Given the description of an element on the screen output the (x, y) to click on. 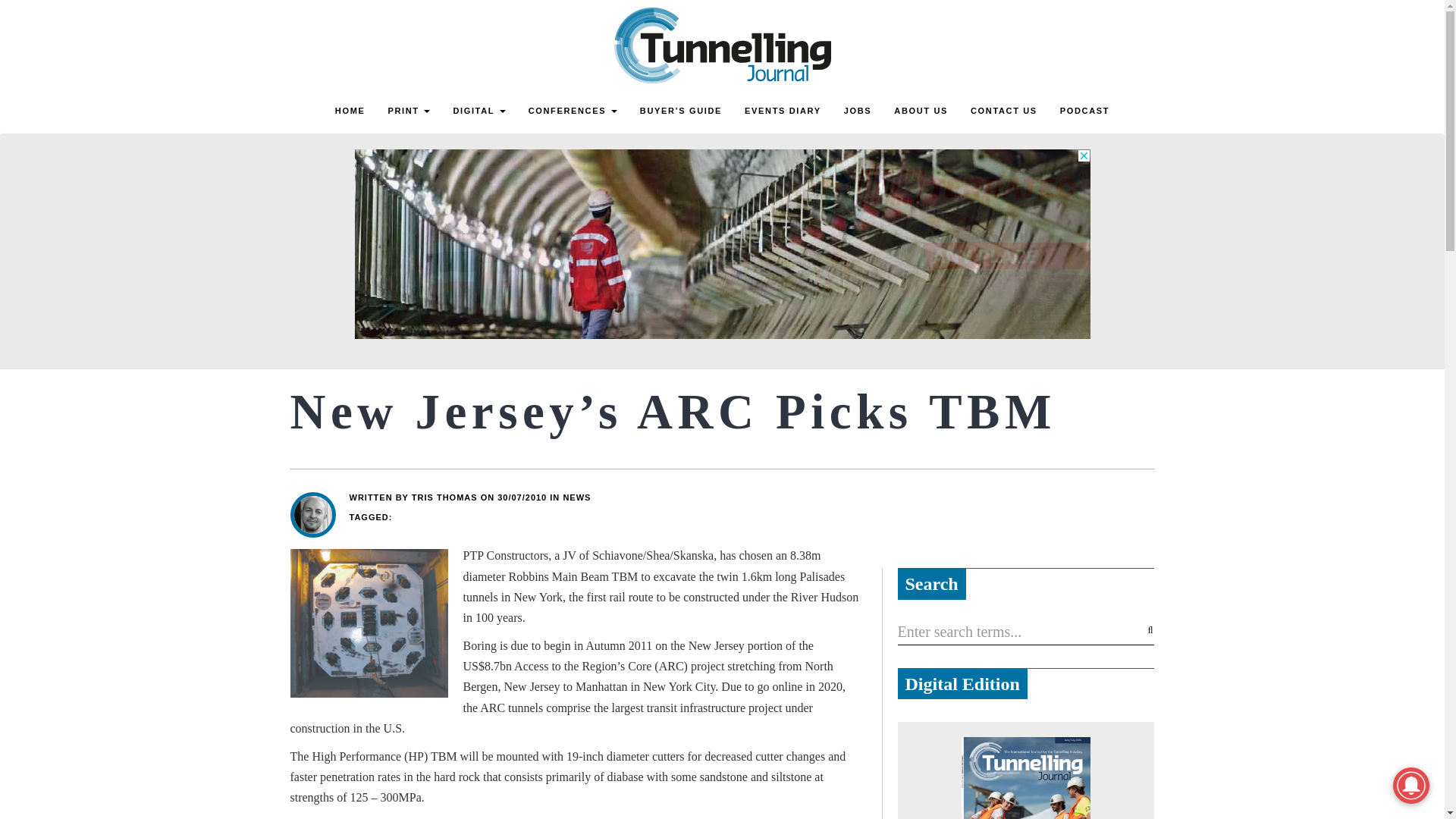
Print (408, 110)
Home (350, 110)
HOME (350, 110)
ABOUT US (920, 110)
JOBS (857, 110)
NEWS (576, 497)
CONFERENCES (572, 110)
PRINT (408, 110)
DIGITAL (478, 110)
Conferences (572, 110)
CONTACT US (1003, 110)
EVENTS DIARY (782, 110)
PODCAST (1084, 110)
Digital (478, 110)
